Given the description of an element on the screen output the (x, y) to click on. 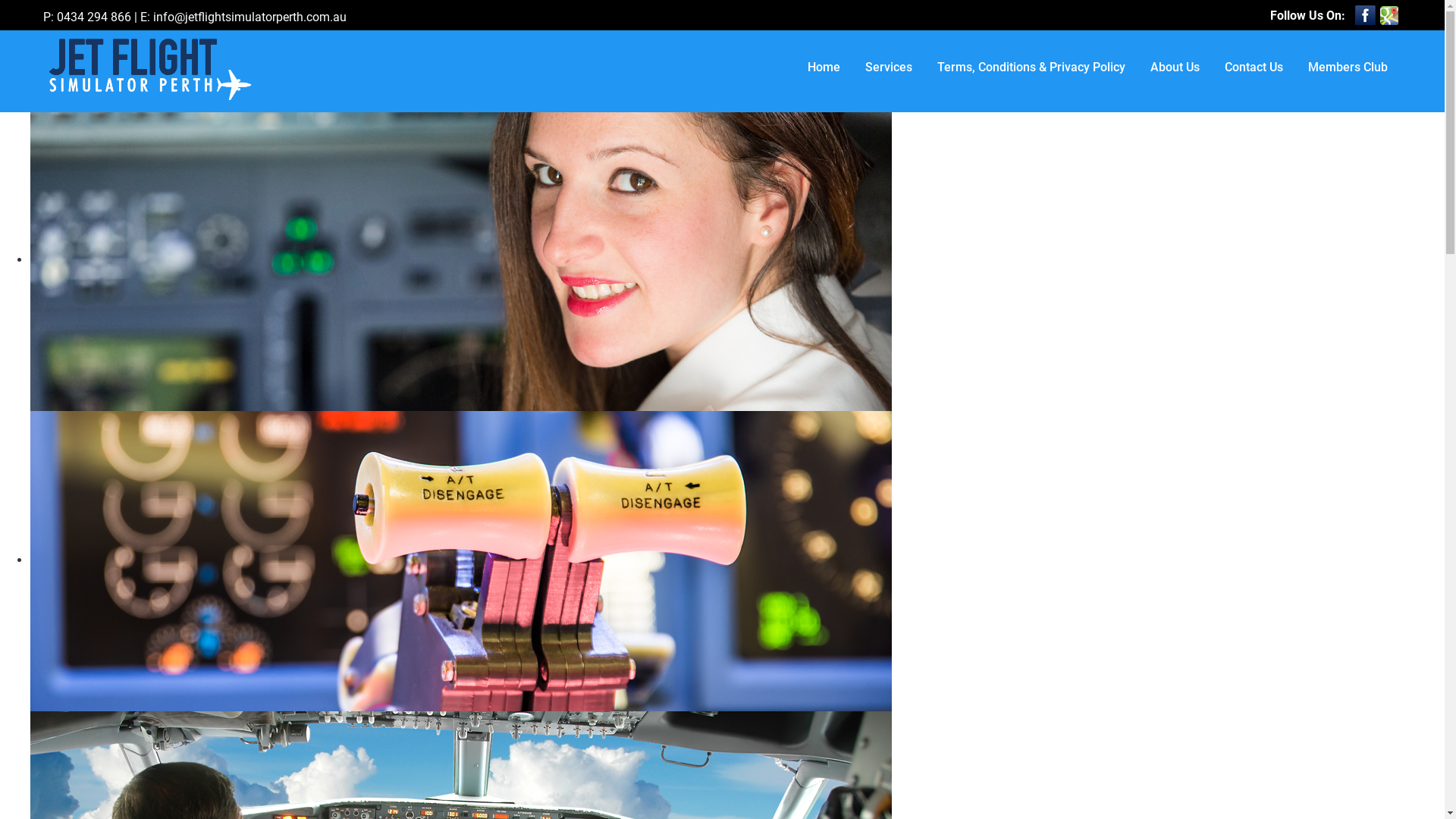
Terms, Conditions & Privacy Policy Element type: text (1031, 67)
Services Element type: text (888, 67)
Flight Experience - Dreamliner Experience Element type: text (148, 70)
Contact Us Element type: text (1253, 67)
Home Element type: text (823, 67)
Members Club Element type: text (1347, 67)
About Us Element type: text (1174, 67)
